Given the description of an element on the screen output the (x, y) to click on. 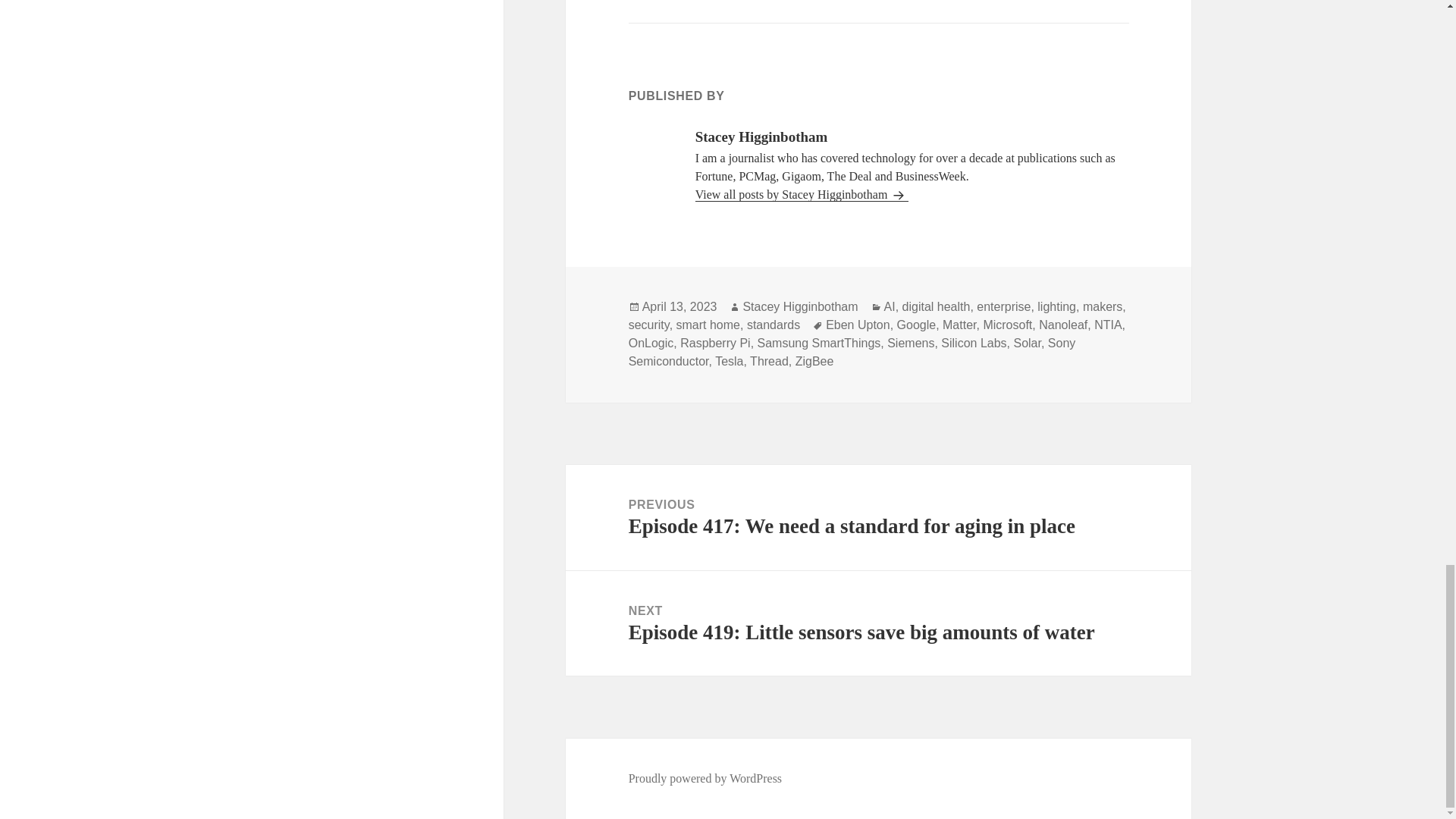
View all posts by Stacey Higginbotham (801, 194)
